Given the description of an element on the screen output the (x, y) to click on. 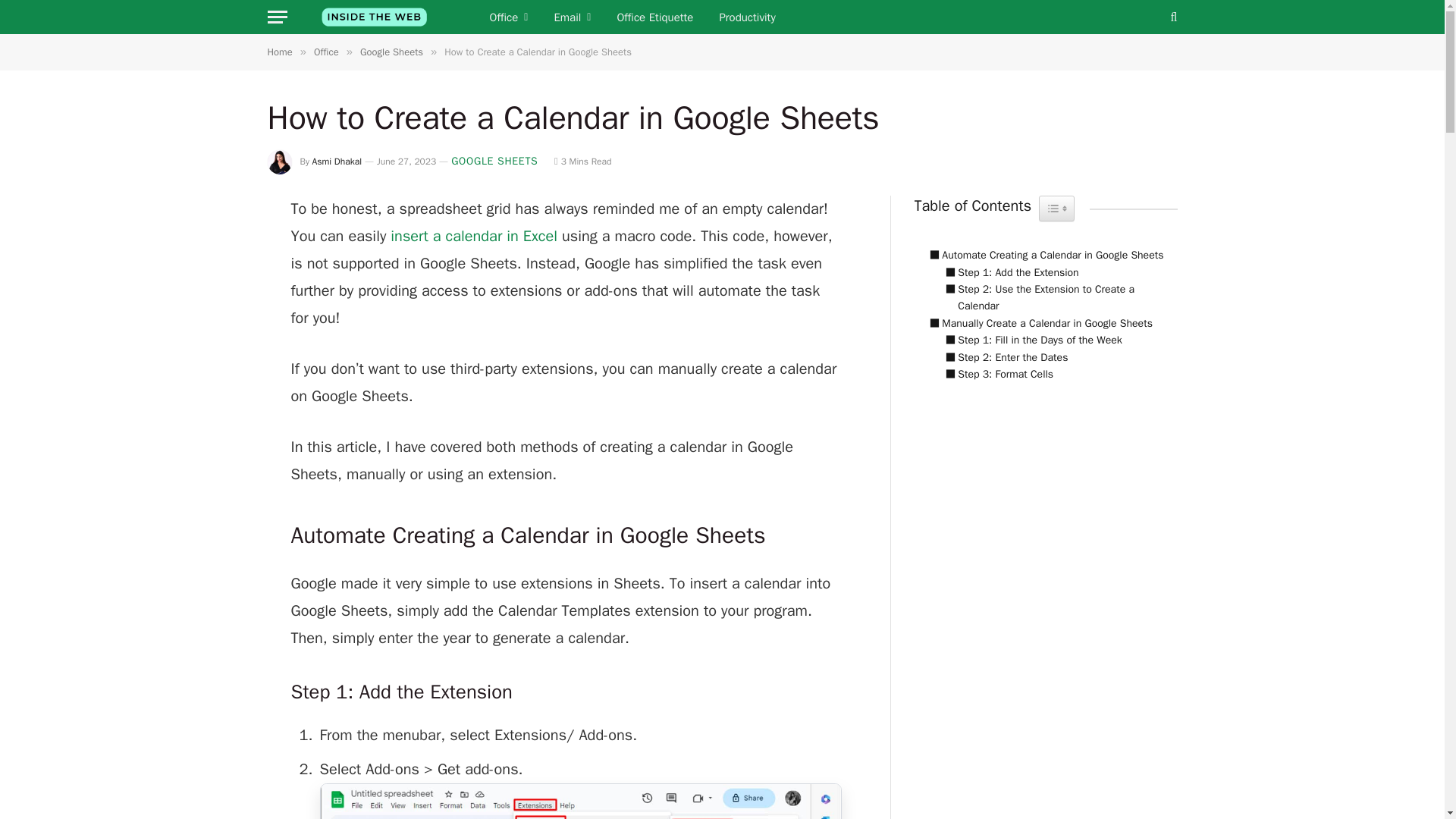
Google Sheets (391, 51)
Office (326, 51)
GOOGLE SHEETS (494, 161)
Office (508, 17)
Inside The Web (373, 17)
Posts by Asmi Dhakal (337, 161)
Step 1: Fill in the Days of the Week (1029, 340)
insert a calendar in Excel (473, 235)
Automate Creating a Calendar in Google Sheets (1042, 255)
Manually Create a Calendar in Google Sheets (1037, 323)
Email (572, 17)
Home (279, 51)
Step 2: Use the Extension to Create a Calendar (1053, 298)
Step 3: Format Cells (994, 374)
Office Etiquette (655, 17)
